Given the description of an element on the screen output the (x, y) to click on. 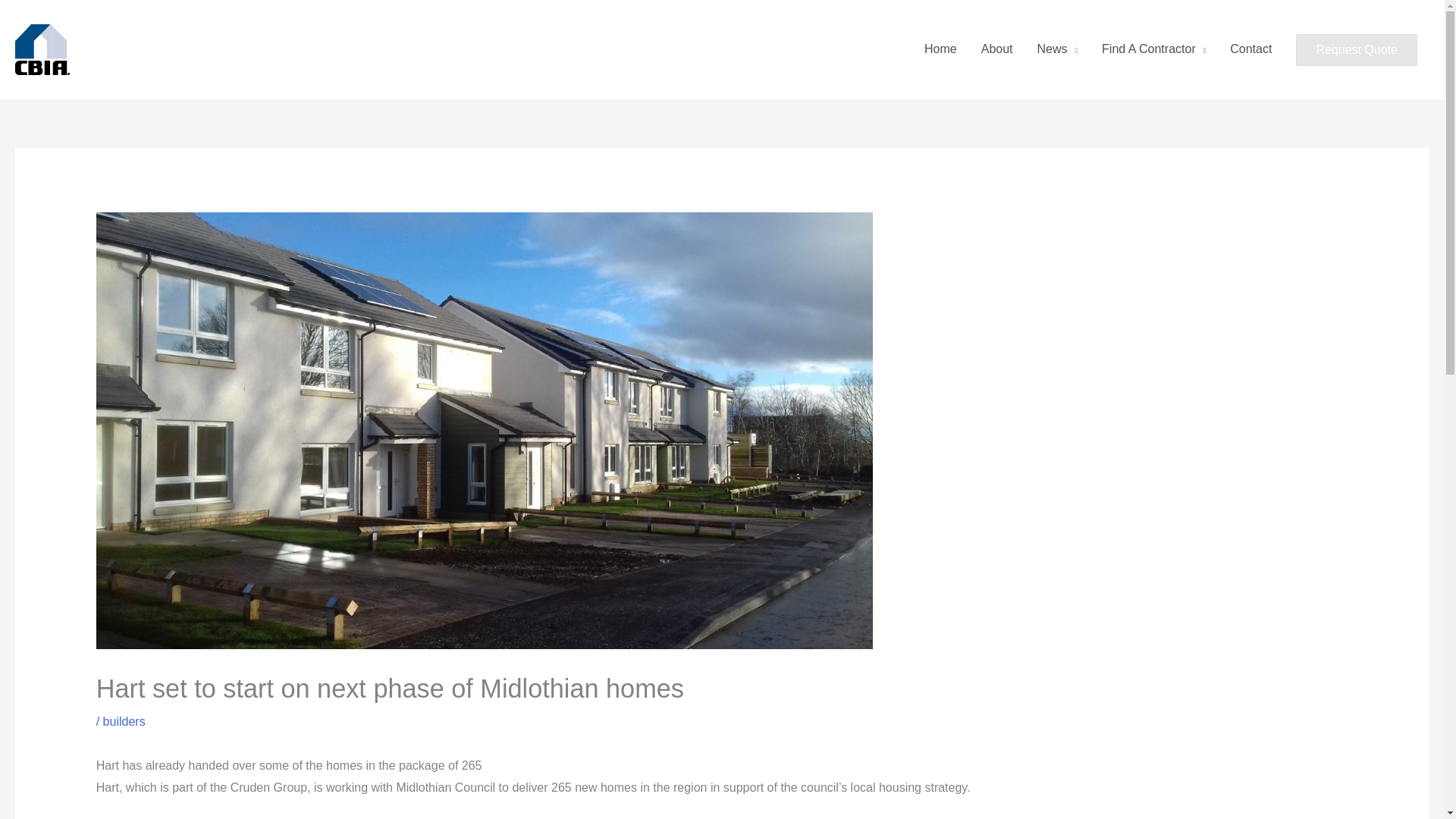
builders (124, 721)
Contact (1250, 49)
Request Quote (1355, 49)
Request Quote (1355, 50)
About (997, 49)
Find A Contractor (1153, 49)
News (1057, 49)
Home (940, 49)
